Given the description of an element on the screen output the (x, y) to click on. 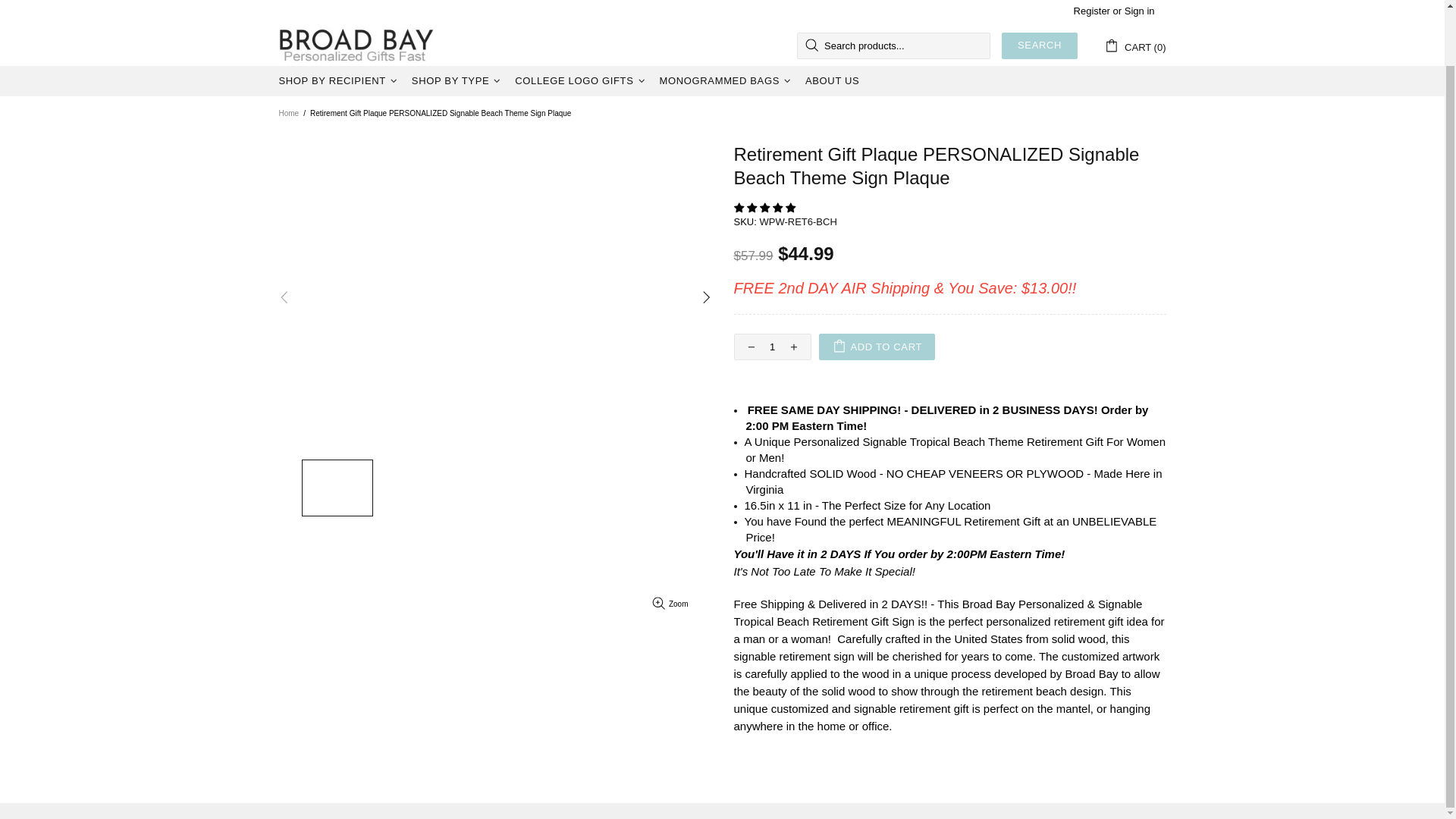
SEARCH (1039, 45)
1 (771, 346)
SHOP BY TYPE (457, 81)
Register (1091, 10)
Sign in (1139, 10)
SHOP BY RECIPIENT (339, 81)
Broad Bay Personalized Gifts Shipped Fast (356, 45)
